Given the description of an element on the screen output the (x, y) to click on. 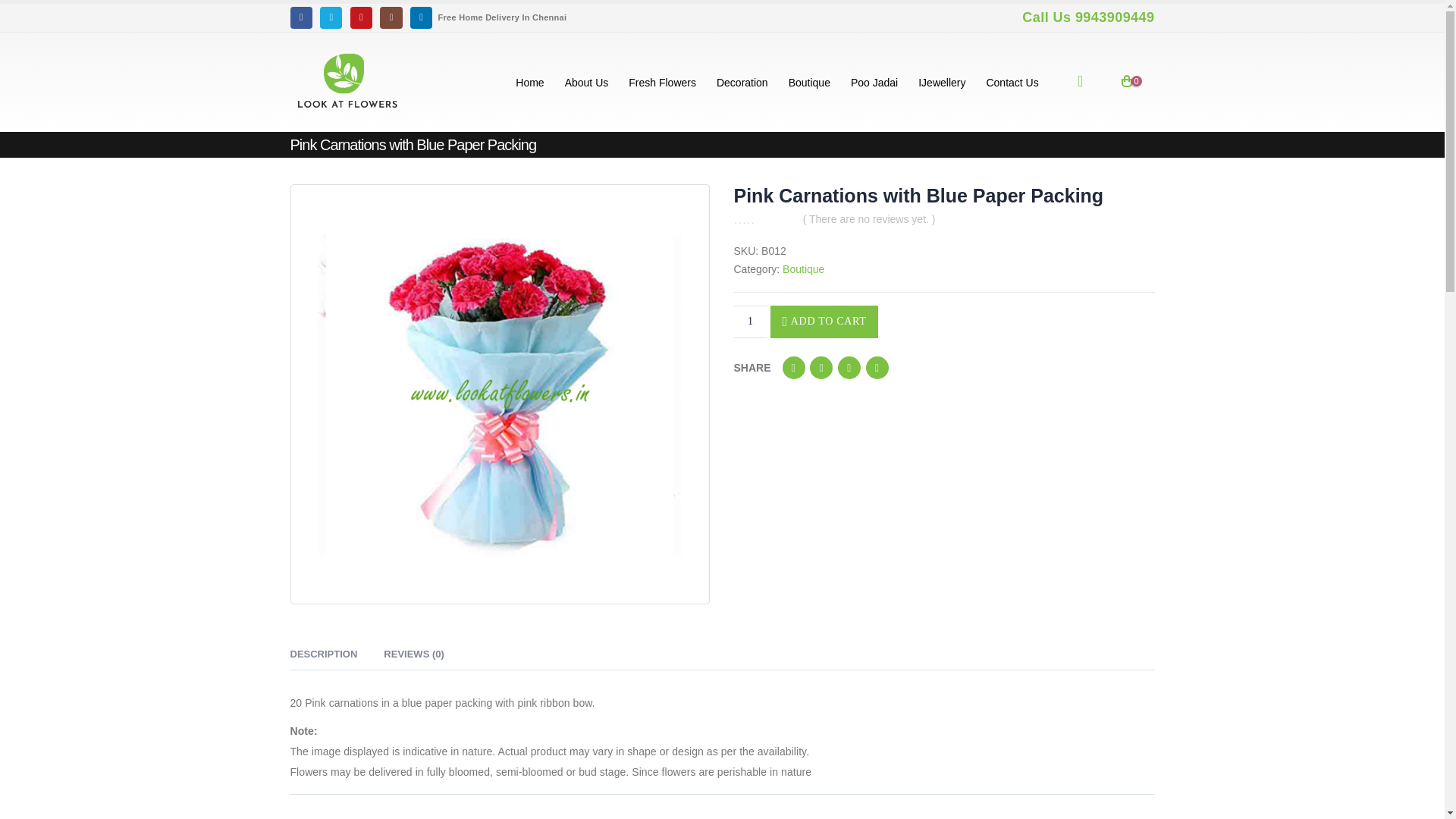
Decoration (741, 81)
Qty (750, 321)
Boutique (809, 81)
ADD TO CART (824, 321)
LinkedIn (849, 367)
Contact Us (1011, 81)
Pinterest (877, 367)
Instagram (390, 17)
Youtube (361, 17)
0 (763, 218)
Twitter (820, 367)
Twitter (331, 17)
Free Home Delivery In Chennai (504, 16)
Call Us 9943909449 (1085, 17)
Facebook (300, 17)
